Given the description of an element on the screen output the (x, y) to click on. 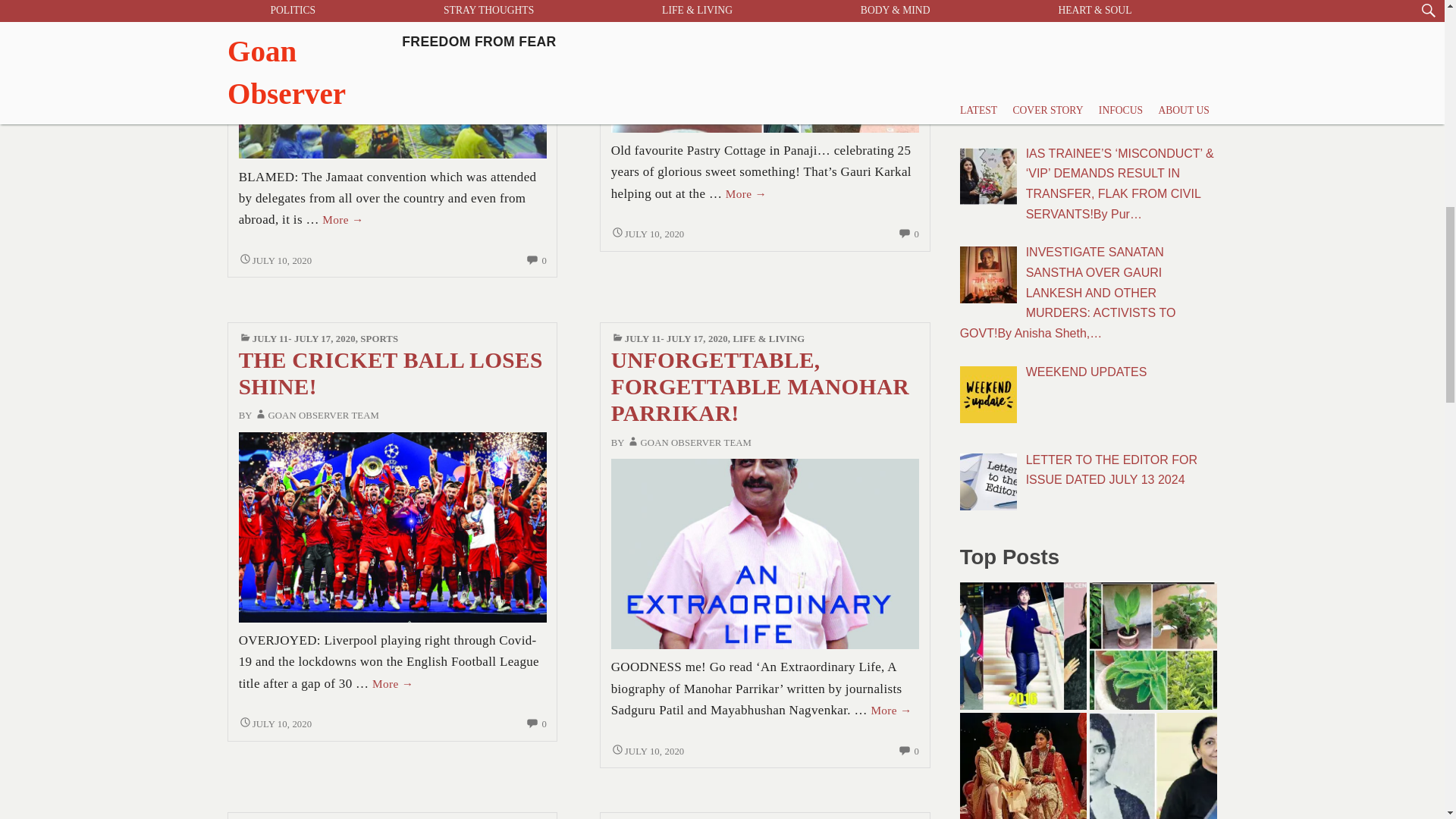
THE CRICKET BALL LOSES SHINE! (392, 525)
UNFORGETTABLE, FORGETTABLE MANOHAR PARRIKAR! (764, 552)
DEMONISATION OF ISLAM! (392, 62)
